Given the description of an element on the screen output the (x, y) to click on. 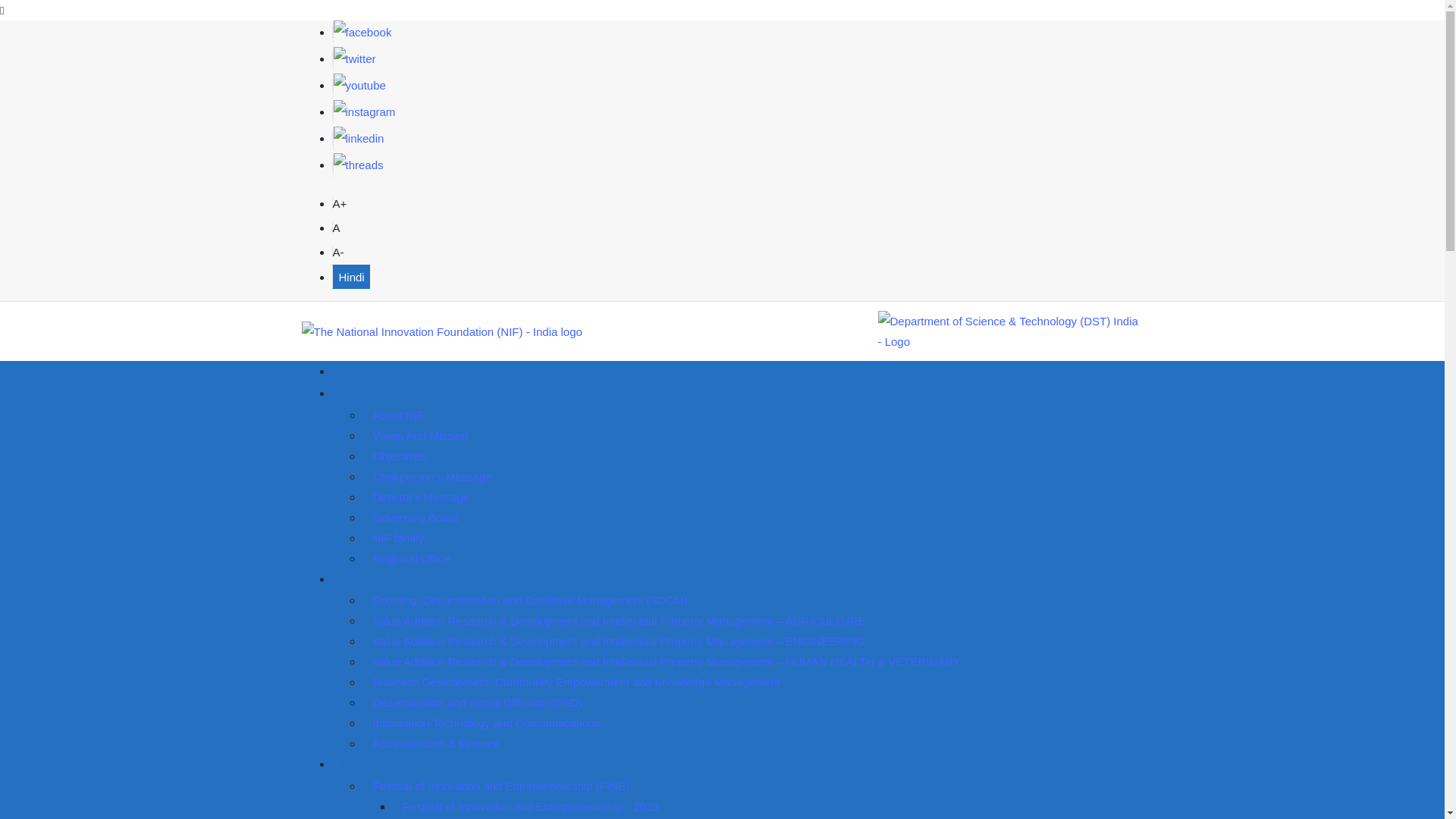
Festival of Innovation and Entrepreneurship - 2019 (531, 816)
Chairperson's Message (432, 476)
NIF family (398, 538)
Vision And Mission (420, 435)
Hindi (350, 276)
Information Technology and Communications (486, 723)
Objectives (399, 456)
ABOUT US (372, 393)
Regional Office (411, 558)
